Given the description of an element on the screen output the (x, y) to click on. 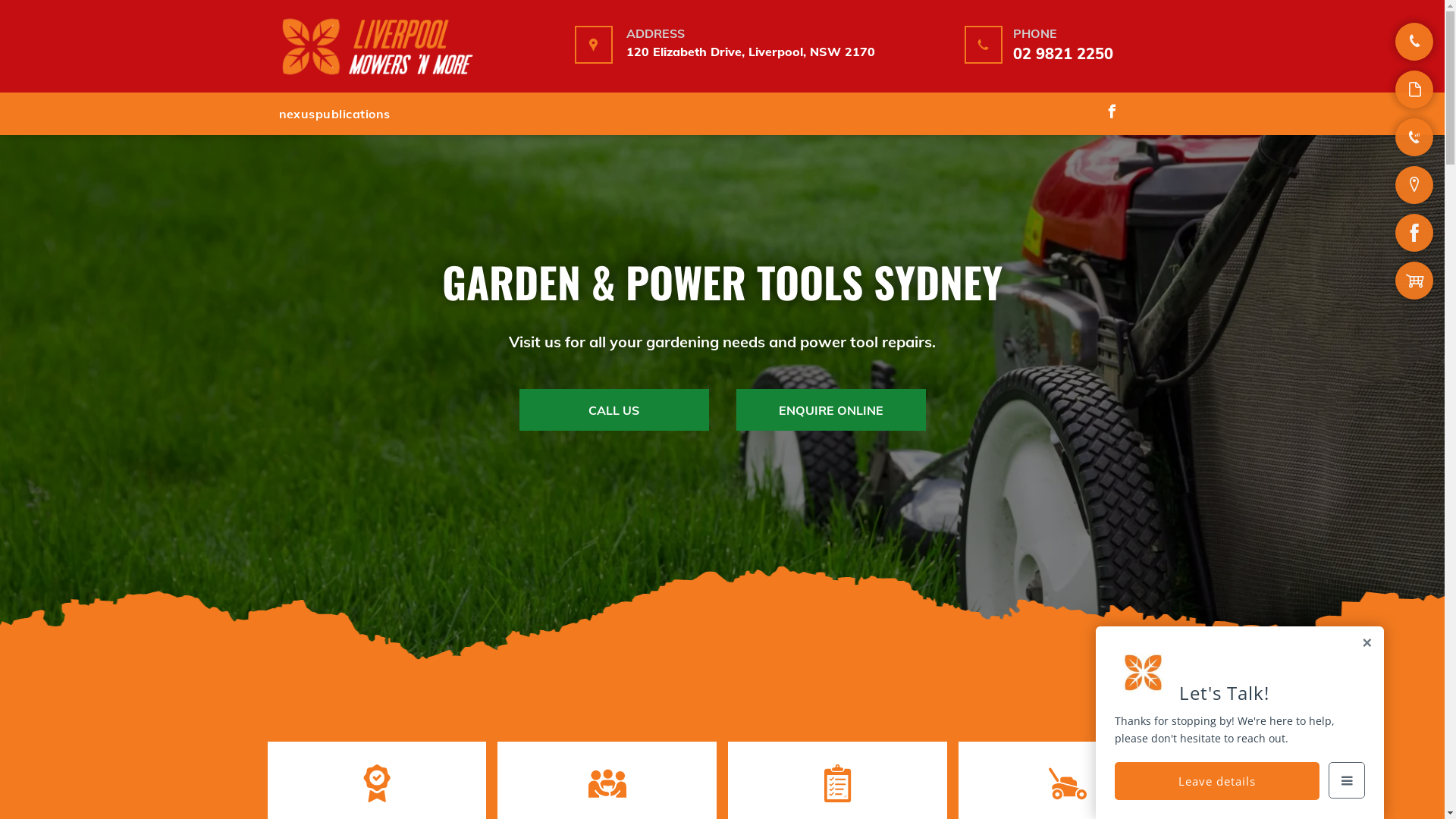
nexuspublications Element type: text (333, 113)
02 9821 2250 Element type: text (1063, 52)
Leave details Element type: text (1216, 781)
ENQUIRE ONLINE Element type: text (830, 409)
120 Elizabeth Drive, Liverpool, NSW 2170 Element type: text (750, 51)
CALL US Element type: text (613, 409)
